Given the description of an element on the screen output the (x, y) to click on. 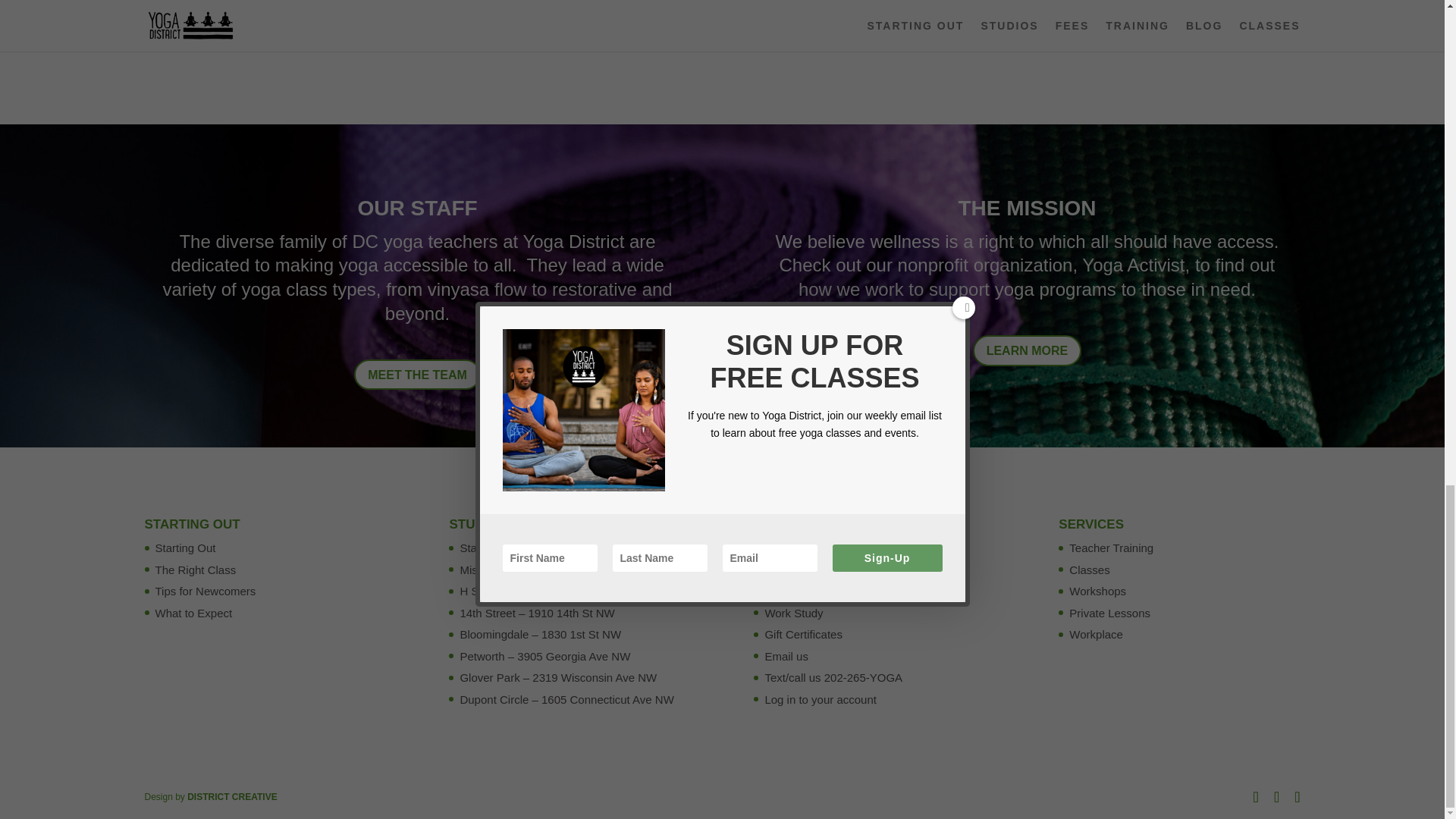
Email us (786, 656)
Tips for Newcomers (205, 590)
Work Study (793, 612)
Starting Out (184, 547)
Staff (471, 547)
DISTRICT CREATIVE (231, 796)
The Right Class (194, 569)
LEARN MORE (1026, 350)
Pass FAQs (792, 569)
Log in to your account (820, 698)
